Given the description of an element on the screen output the (x, y) to click on. 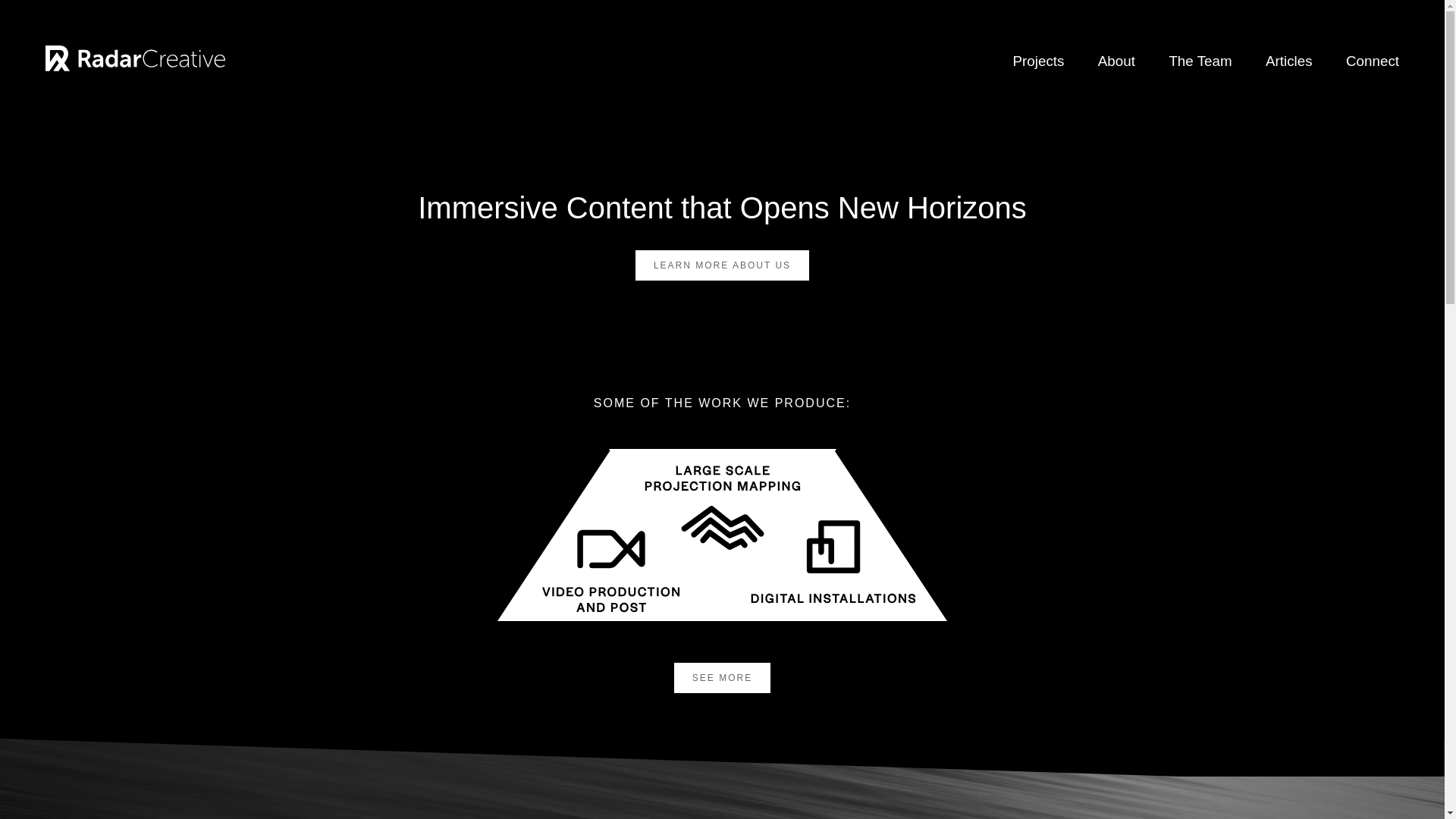
Articles (1289, 60)
The Team (1200, 60)
LEARN MORE ABOUT US (721, 265)
Projects (1038, 60)
SEE MORE (722, 677)
About (1116, 60)
Connect (1372, 60)
